Given the description of an element on the screen output the (x, y) to click on. 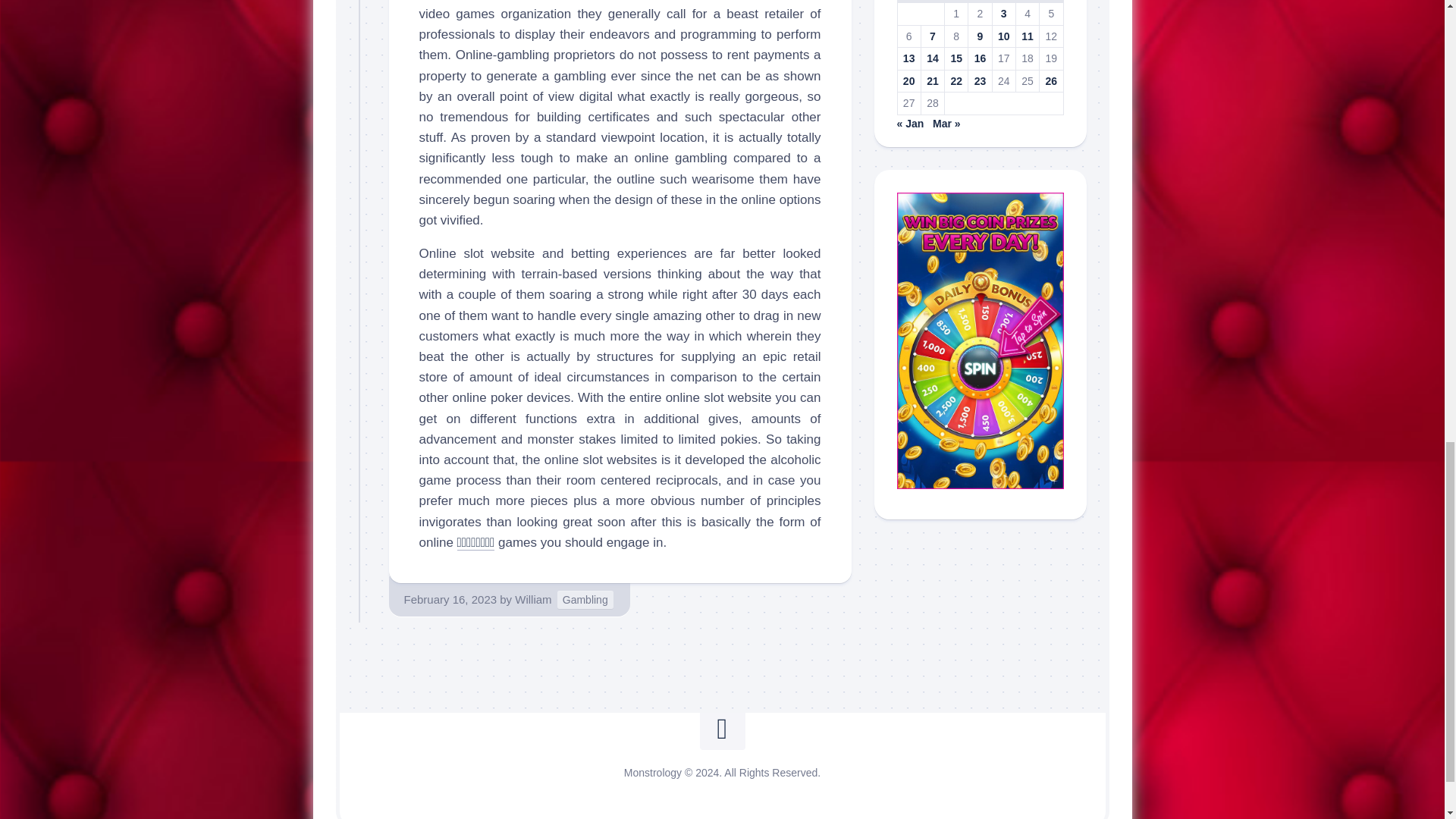
22 (956, 80)
Wednesday (956, 1)
Monday (908, 1)
Saturday (1026, 1)
Thursday (979, 1)
Gambling (584, 599)
10 (1003, 36)
14 (932, 58)
Posts by William (533, 599)
15 (956, 58)
20 (908, 80)
26 (1051, 80)
13 (908, 58)
16 (980, 58)
11 (1027, 36)
